Given the description of an element on the screen output the (x, y) to click on. 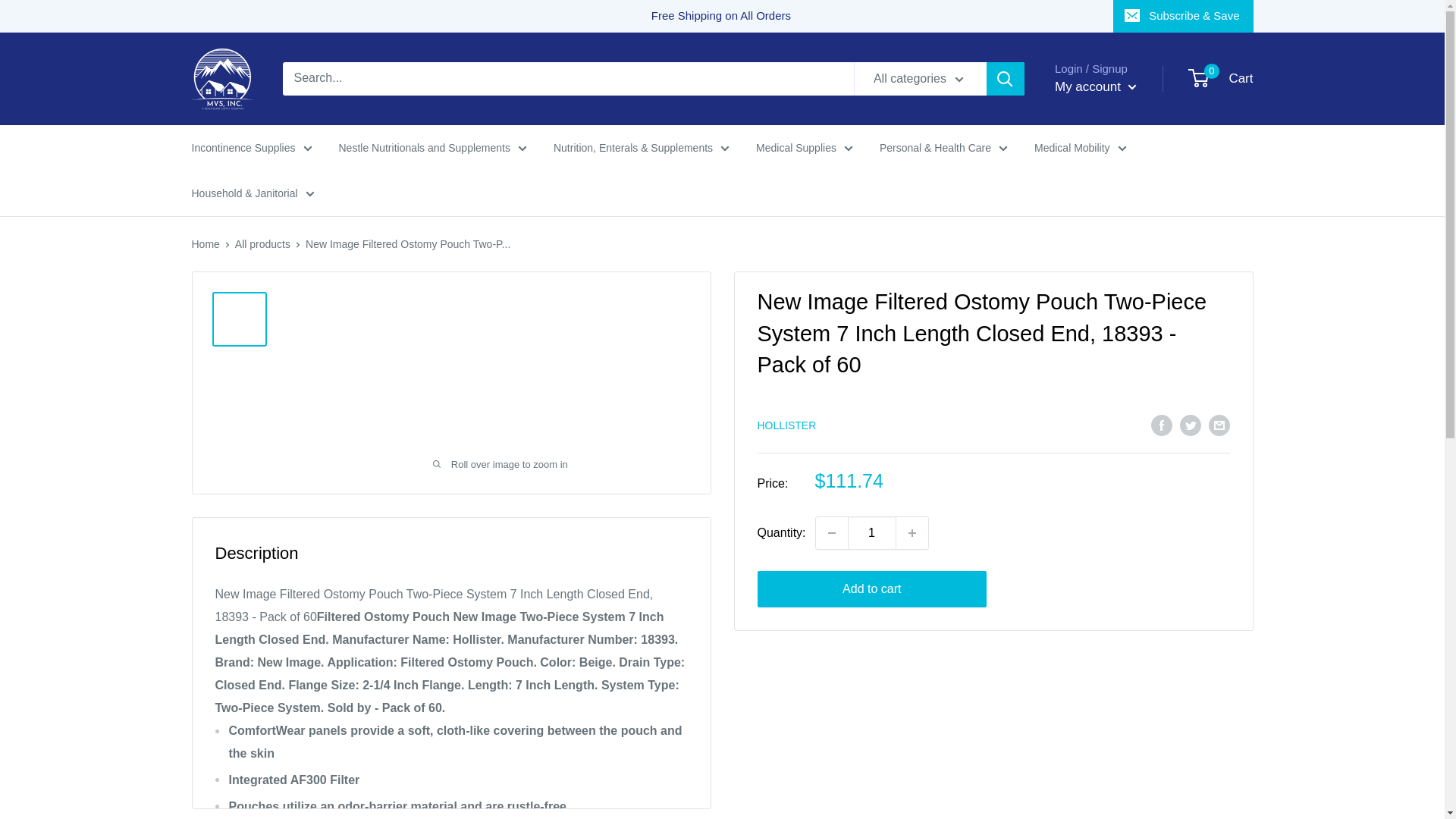
Increase quantity by 1 (912, 532)
1 (871, 532)
Decrease quantity by 1 (831, 532)
